Given the description of an element on the screen output the (x, y) to click on. 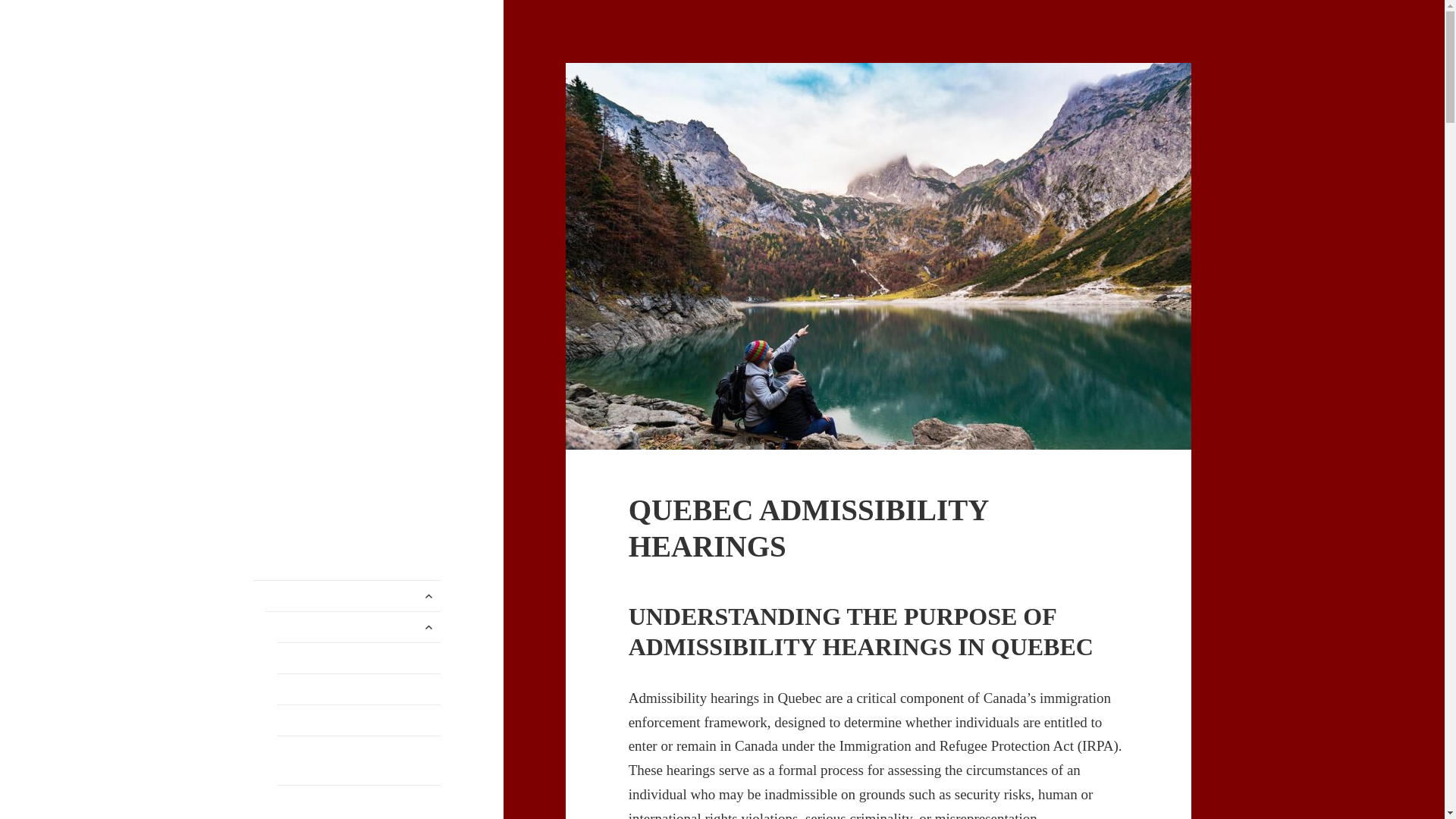
Immigration Lawyers in Canada (346, 86)
Assessment of State Protection (359, 720)
Home (347, 595)
expand child menu (428, 595)
Admissibility Hearings (359, 657)
Practice Areas (352, 626)
Agri-Food Immigration Pilot (359, 689)
Best Interests of the Child Considerations (359, 802)
expand child menu (428, 627)
